Given the description of an element on the screen output the (x, y) to click on. 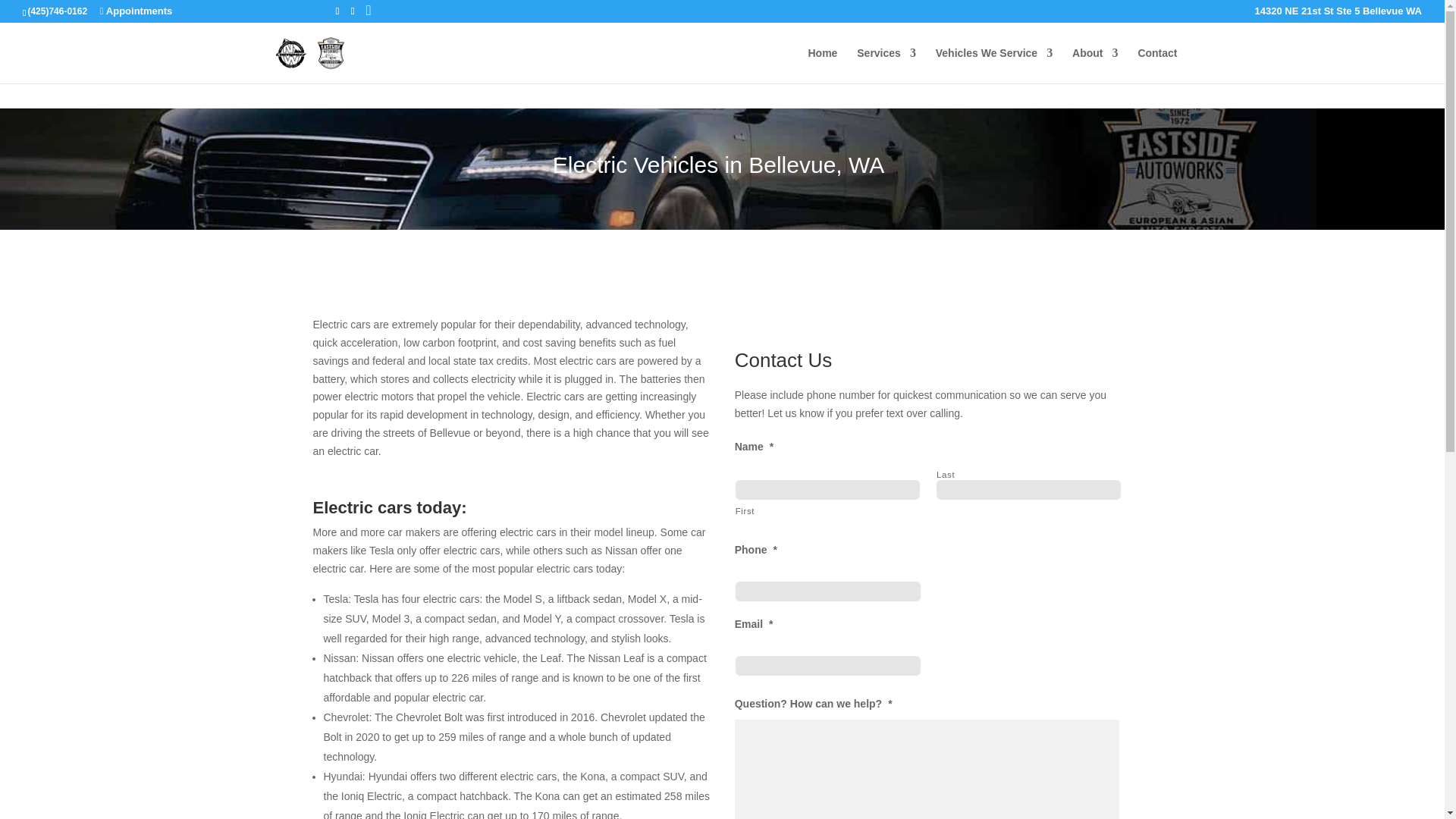
14320 NE 21st St Ste 5 Bellevue WA (1338, 10)
Vehicles We Service (994, 65)
Appointments (135, 10)
About (1094, 65)
Services (886, 65)
